Given the description of an element on the screen output the (x, y) to click on. 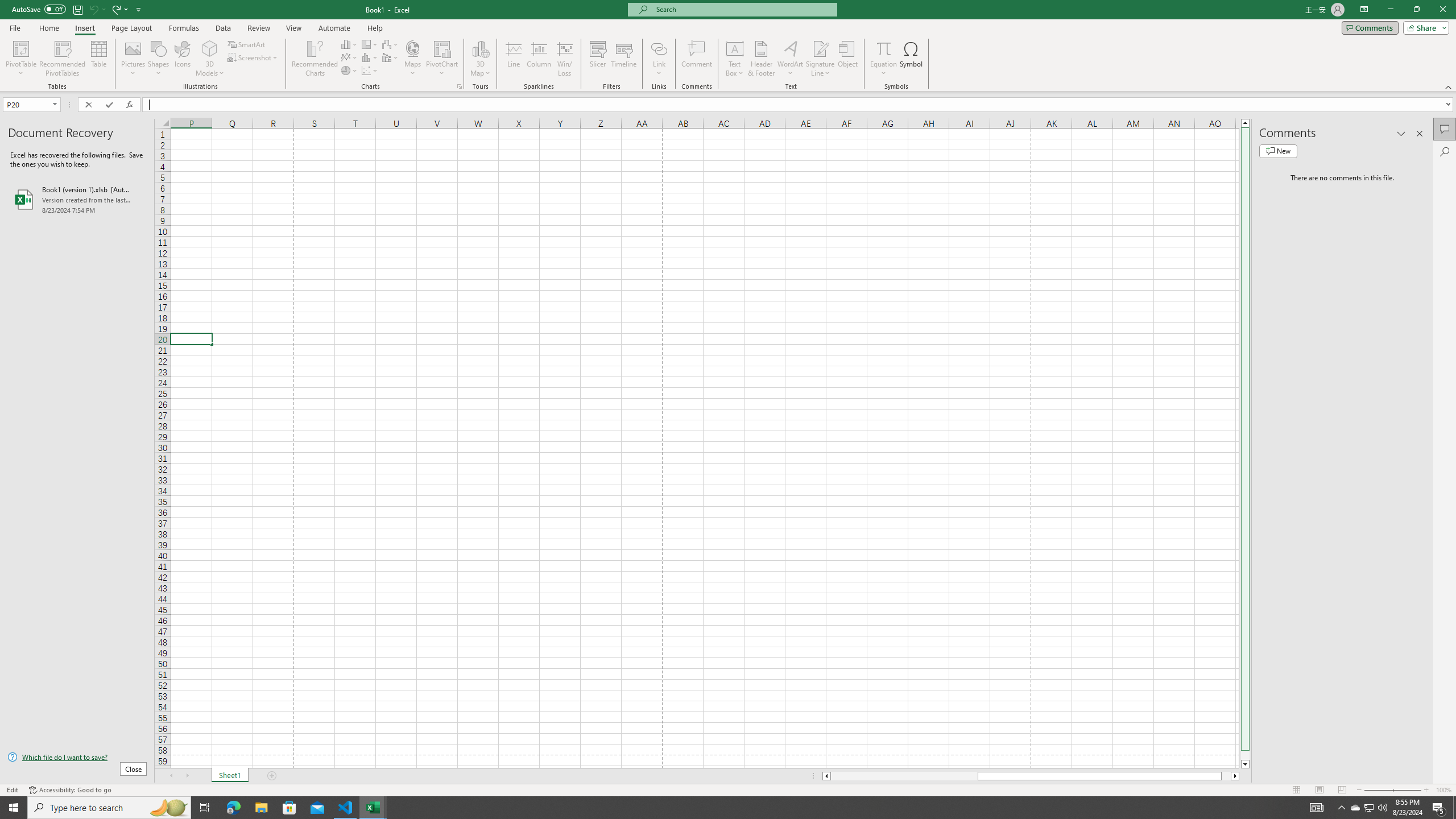
Slicer... (597, 58)
PivotTable (20, 48)
Collapse the Ribbon (1448, 86)
Header & Footer... (761, 58)
Shapes (158, 58)
System (6, 6)
Close pane (1419, 133)
Object... (847, 58)
Page Layout (1318, 790)
Formula Bar (799, 104)
Formulas (184, 28)
PivotTable (20, 58)
Signature Line (820, 58)
Class: MsoCommandBar (728, 45)
Insert Combo Chart (390, 56)
